Given the description of an element on the screen output the (x, y) to click on. 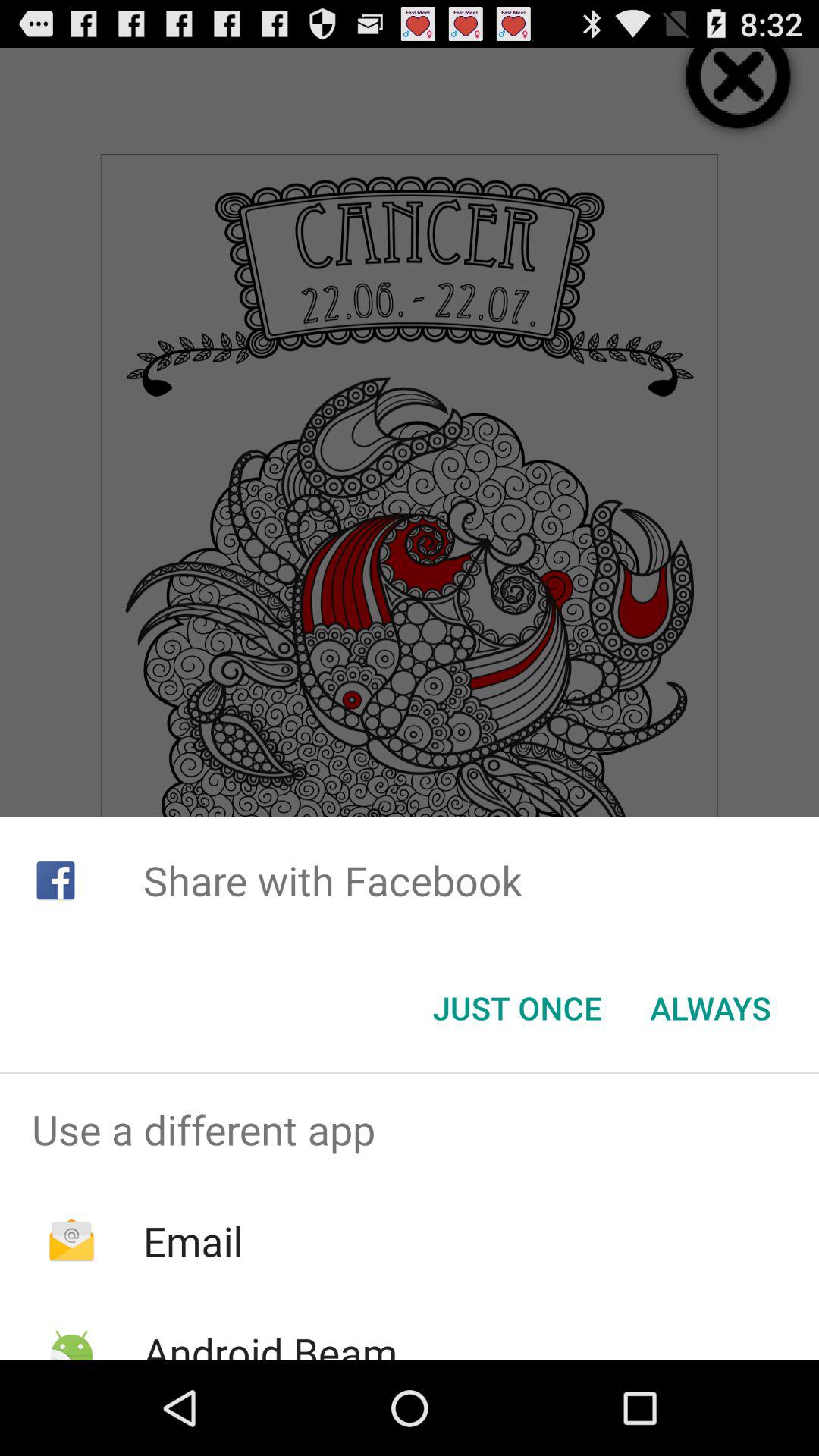
choose the button next to just once icon (710, 1007)
